Given the description of an element on the screen output the (x, y) to click on. 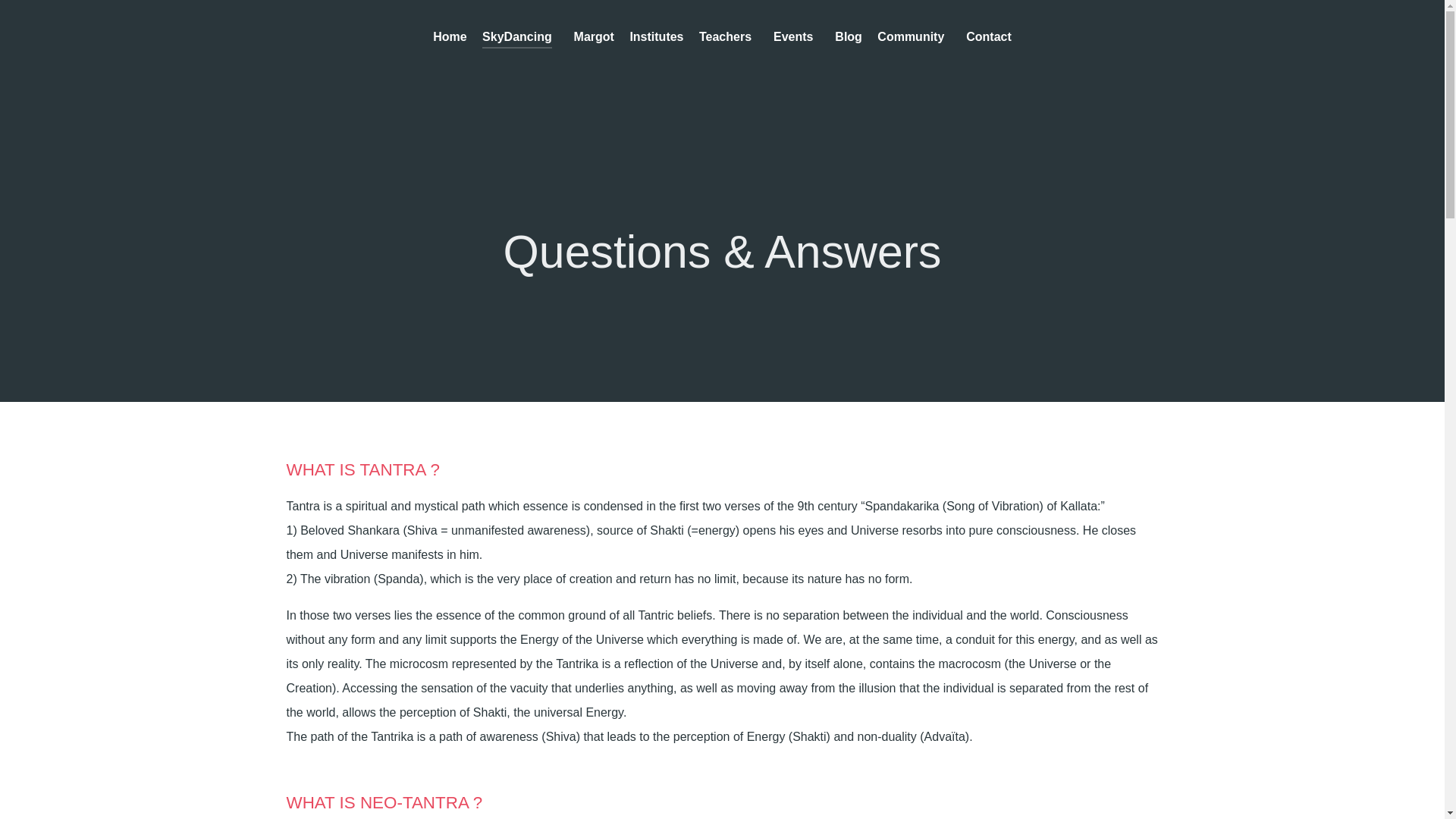
Contact (988, 38)
Home (448, 38)
Institutes (655, 38)
Tantra Blog Page (847, 38)
Blog (847, 38)
SkyDancing Tantra International (448, 38)
Margot (593, 38)
WHAT IS NEO-TANTRA ? (384, 802)
WHAT IS TANTRA ? (362, 469)
